Given the description of an element on the screen output the (x, y) to click on. 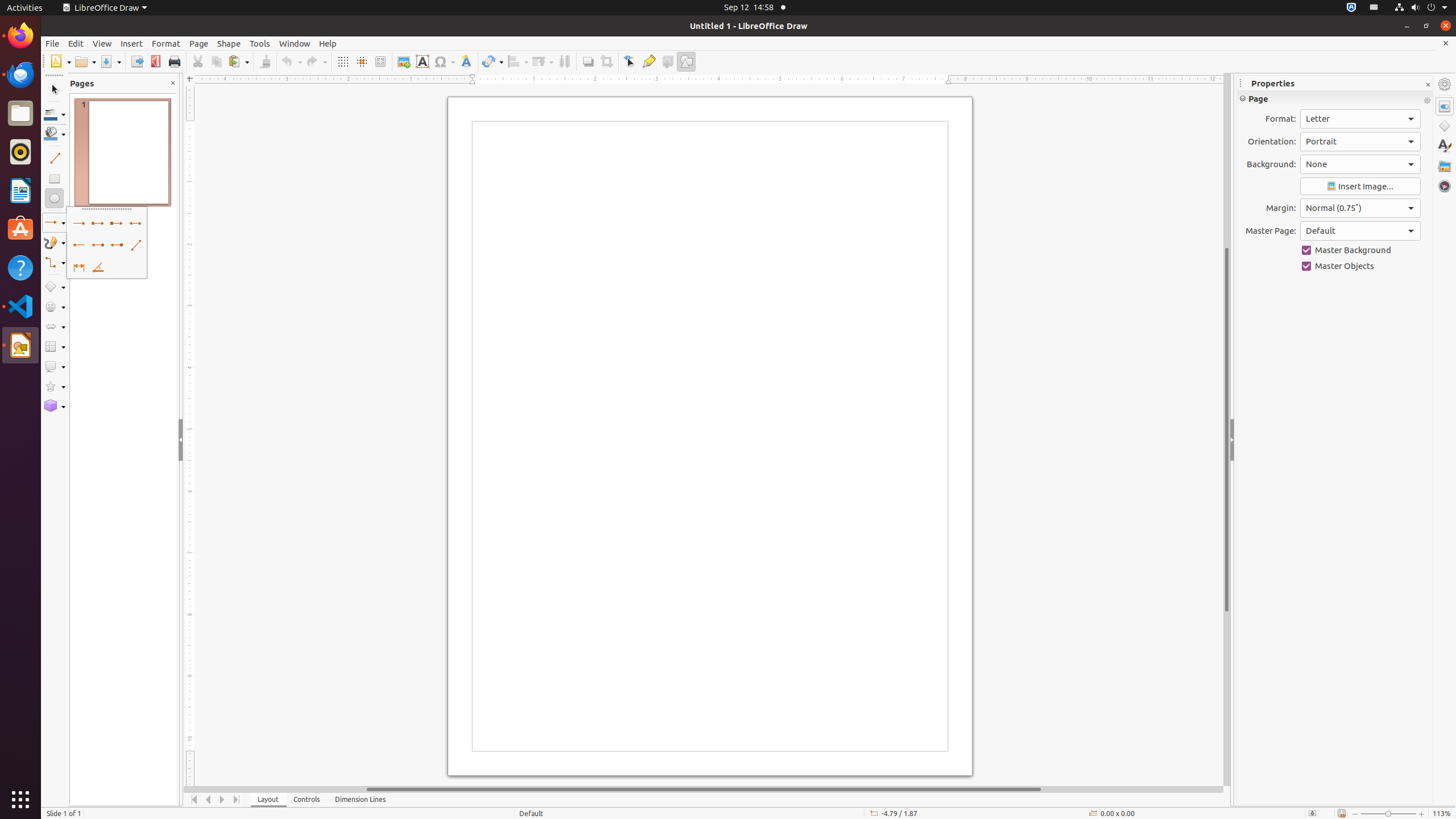
Helplines While Moving Element type: toggle-button (361, 61)
Move Left Element type: push-button (208, 799)
Toggle Extrusion Element type: push-button (667, 61)
New Element type: push-button (59, 61)
Arrange Element type: push-button (542, 61)
